Given the description of an element on the screen output the (x, y) to click on. 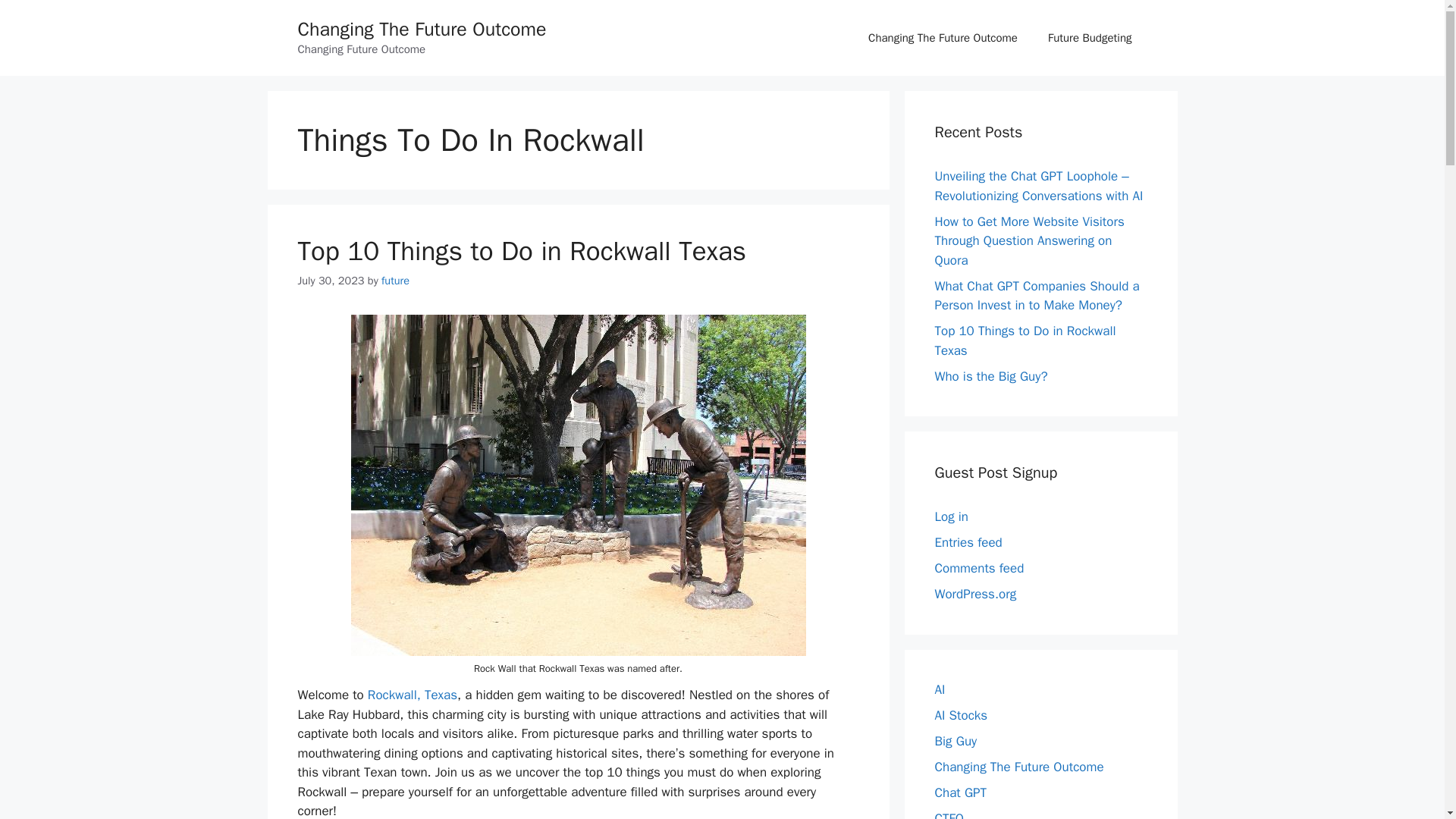
View all posts by future (395, 280)
Who is the Big Guy? (990, 376)
future (395, 280)
AI Stocks (960, 714)
Top 10 Things to Do in Rockwall Texas (521, 250)
Top 10 Things to Do in Rockwall Texas (1024, 340)
Entries feed (967, 542)
WordPress.org (975, 593)
